Given the description of an element on the screen output the (x, y) to click on. 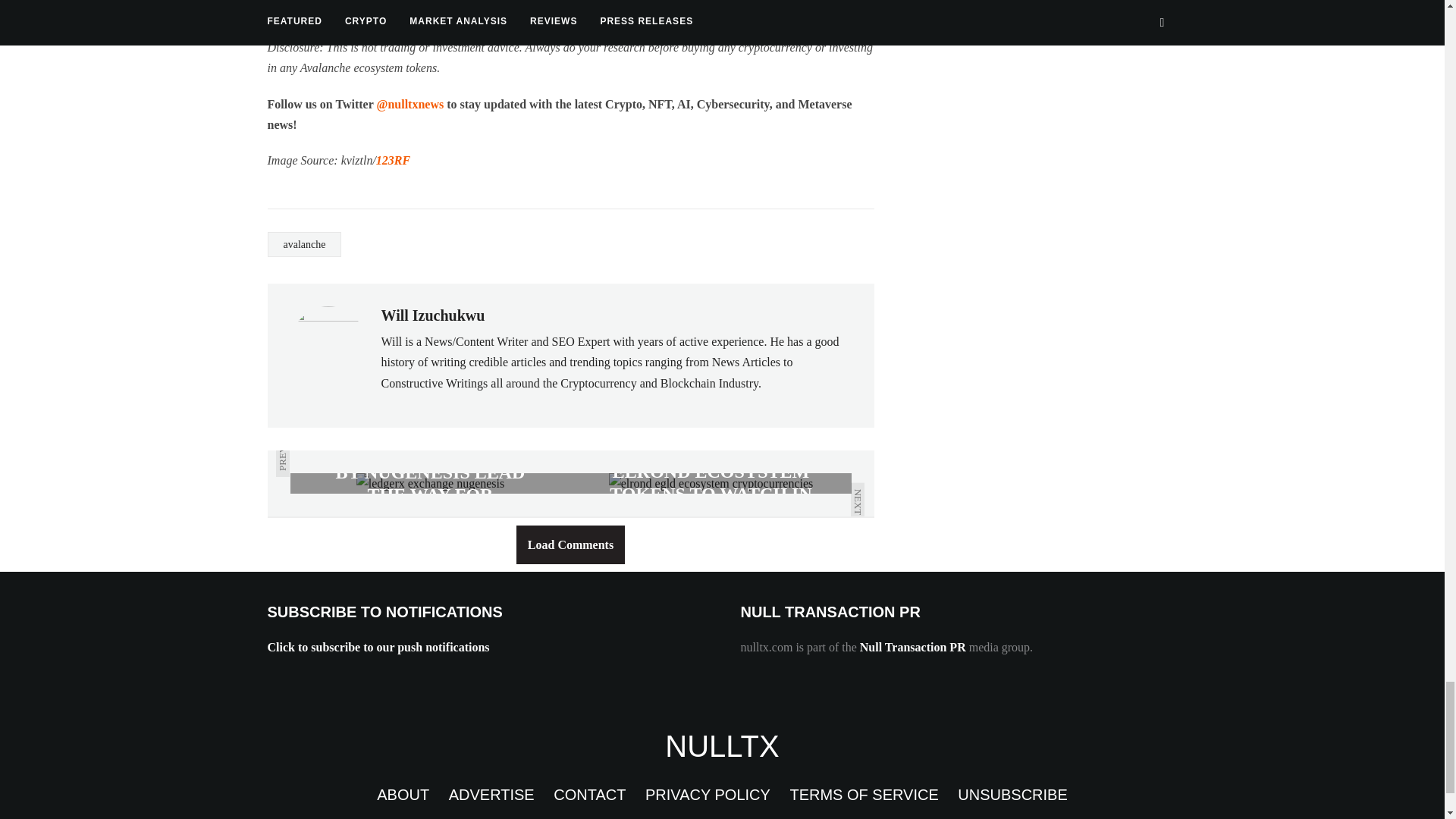
Null Transaction PR (913, 646)
Posts by Will Izuchukwu (432, 315)
123RF (392, 160)
Click to subscribe to our push notifications (377, 646)
avalanche (303, 244)
TOP 5 IN-DEMAND ELROND ECOSYSTEM TOKENS TO WATCH IN 2022 (710, 483)
Top 5 In-Demand Elrond Ecosystem Tokens to Watch in 2022 (710, 483)
Will Izuchukwu (432, 315)
Cryptocurrency News (721, 745)
